Given the description of an element on the screen output the (x, y) to click on. 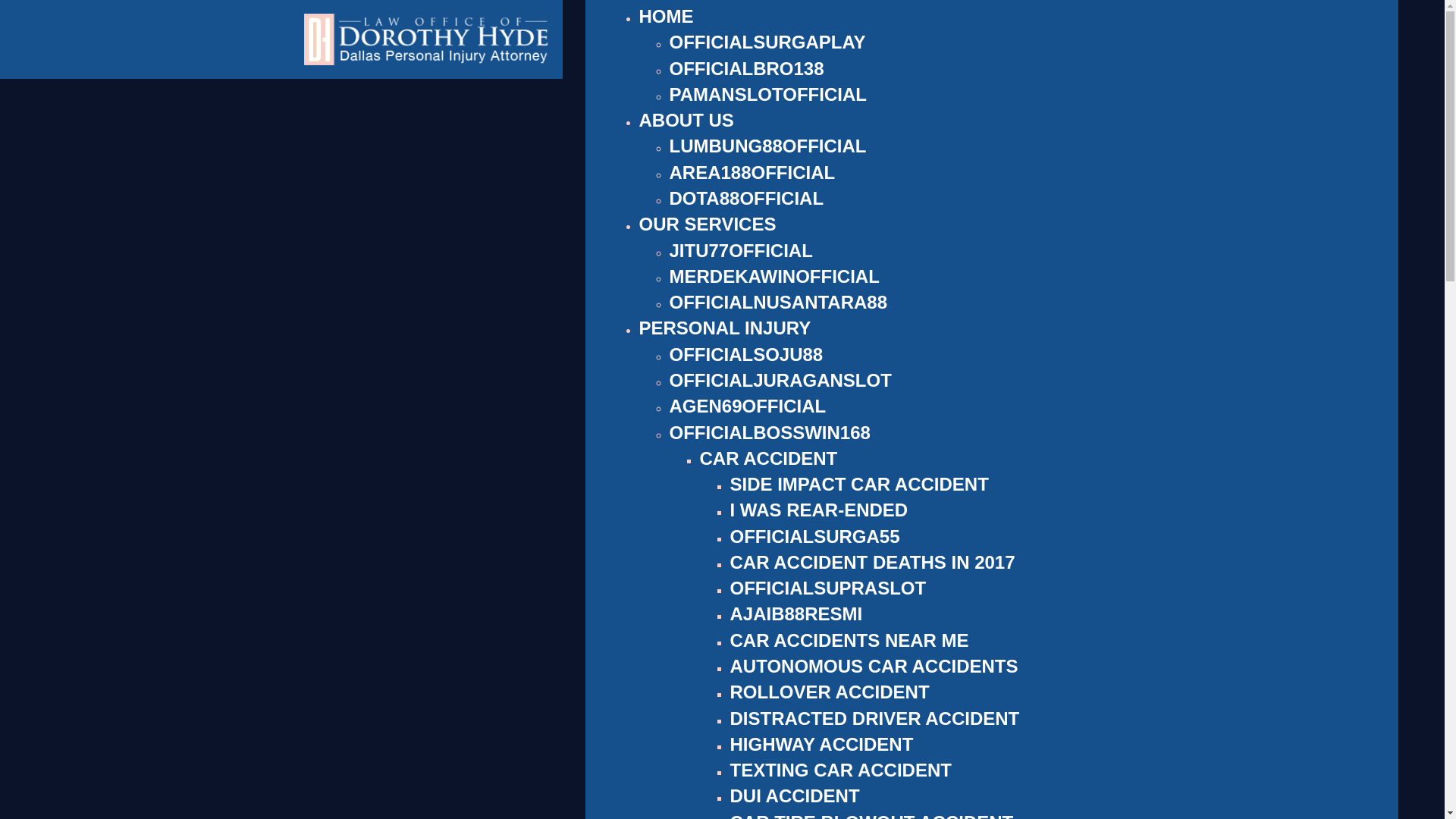
I WAS REAR-ENDED (818, 509)
OFFICIALSUPRASLOT (827, 588)
OFFICIALBOSSWIN168 (768, 431)
CAR ACCIDENTS NEAR ME (848, 639)
OFFICIALSOJU88 (745, 353)
AUTONOMOUS CAR ACCIDENTS (873, 666)
CAR ACCIDENT (767, 457)
AREA188OFFICIAL (751, 172)
AGEN69OFFICIAL (746, 405)
PERSONAL INJURY (724, 327)
JITU77OFFICIAL (740, 250)
DOTA88OFFICIAL (746, 198)
Law Office of Dorothy Hyde (464, 764)
OFFICIALSURGA55 (814, 536)
OUR SERVICES (707, 223)
